Given the description of an element on the screen output the (x, y) to click on. 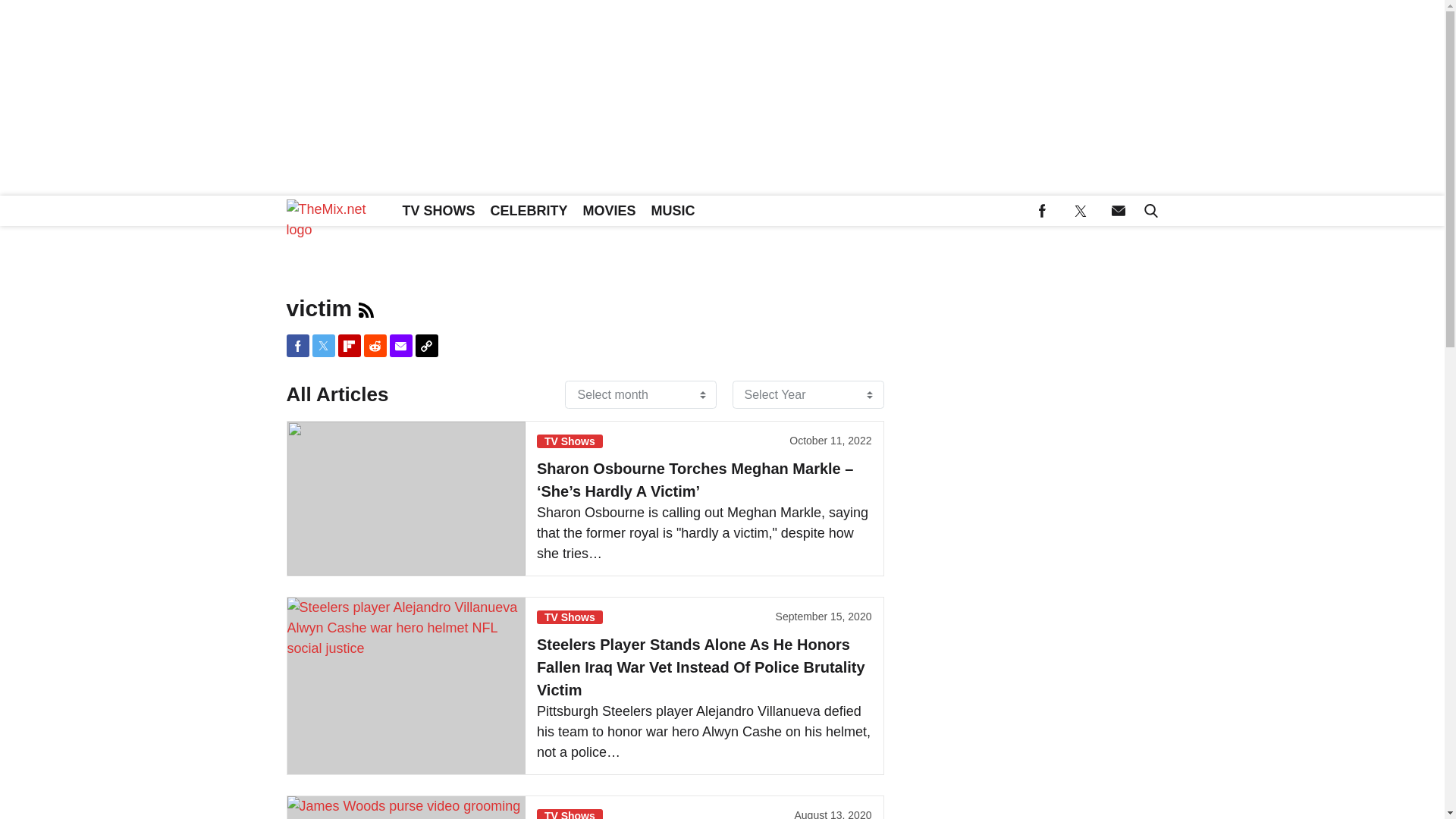
Share via Email (401, 345)
Follow us on Facebook (1042, 210)
Share on Flipboard (349, 345)
MOVIES (609, 210)
Share on Reddit (375, 345)
TV Shows (569, 814)
MUSIC (673, 210)
Share on Twitter (323, 345)
Send us an email (1118, 210)
